Given the description of an element on the screen output the (x, y) to click on. 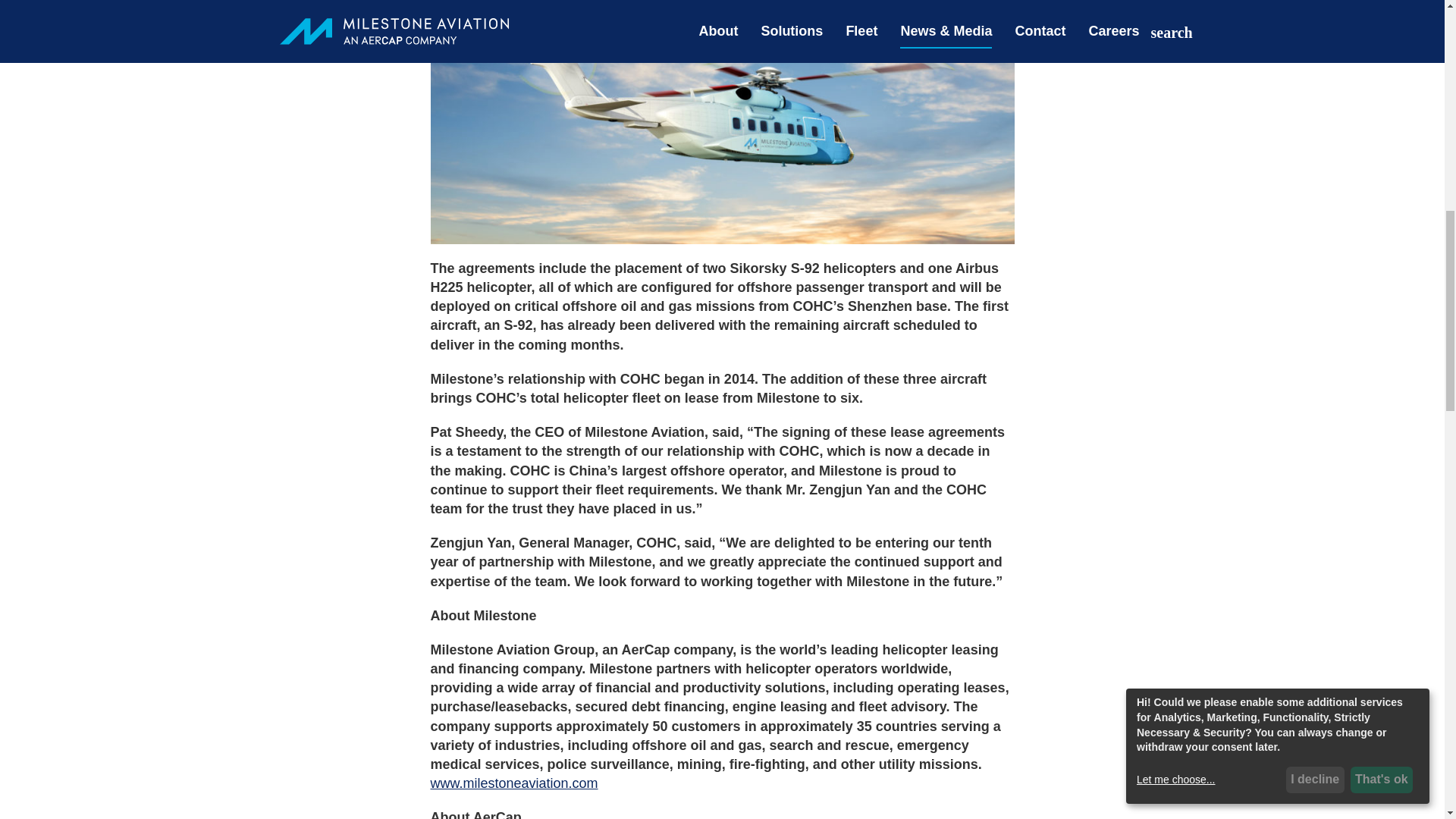
Opens in a new window (514, 783)
www.milestoneaviation.com (514, 783)
